Given the description of an element on the screen output the (x, y) to click on. 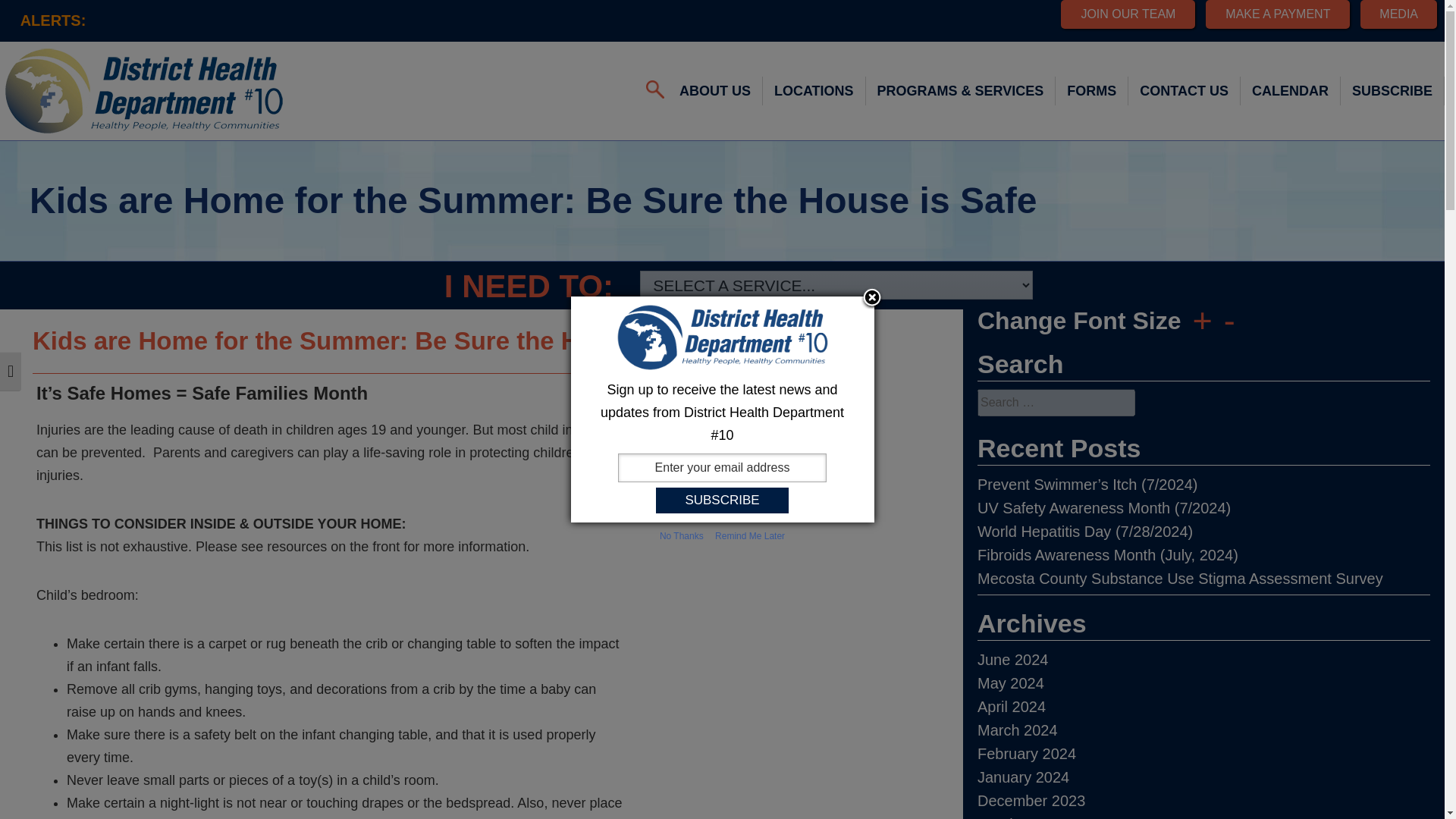
Make a Payment (1277, 14)
JOIN OUR TEAM (1128, 14)
LOCATIONS (814, 90)
CALENDAR (1290, 90)
Search for: (655, 89)
FORMS (1091, 90)
Search for: (1055, 402)
Sidebar Search (1202, 402)
ABOUT US (715, 90)
Subscribe (722, 500)
Media (1398, 14)
MEDIA (1398, 14)
Search (22, 11)
Join Our Team (1128, 14)
